Given the description of an element on the screen output the (x, y) to click on. 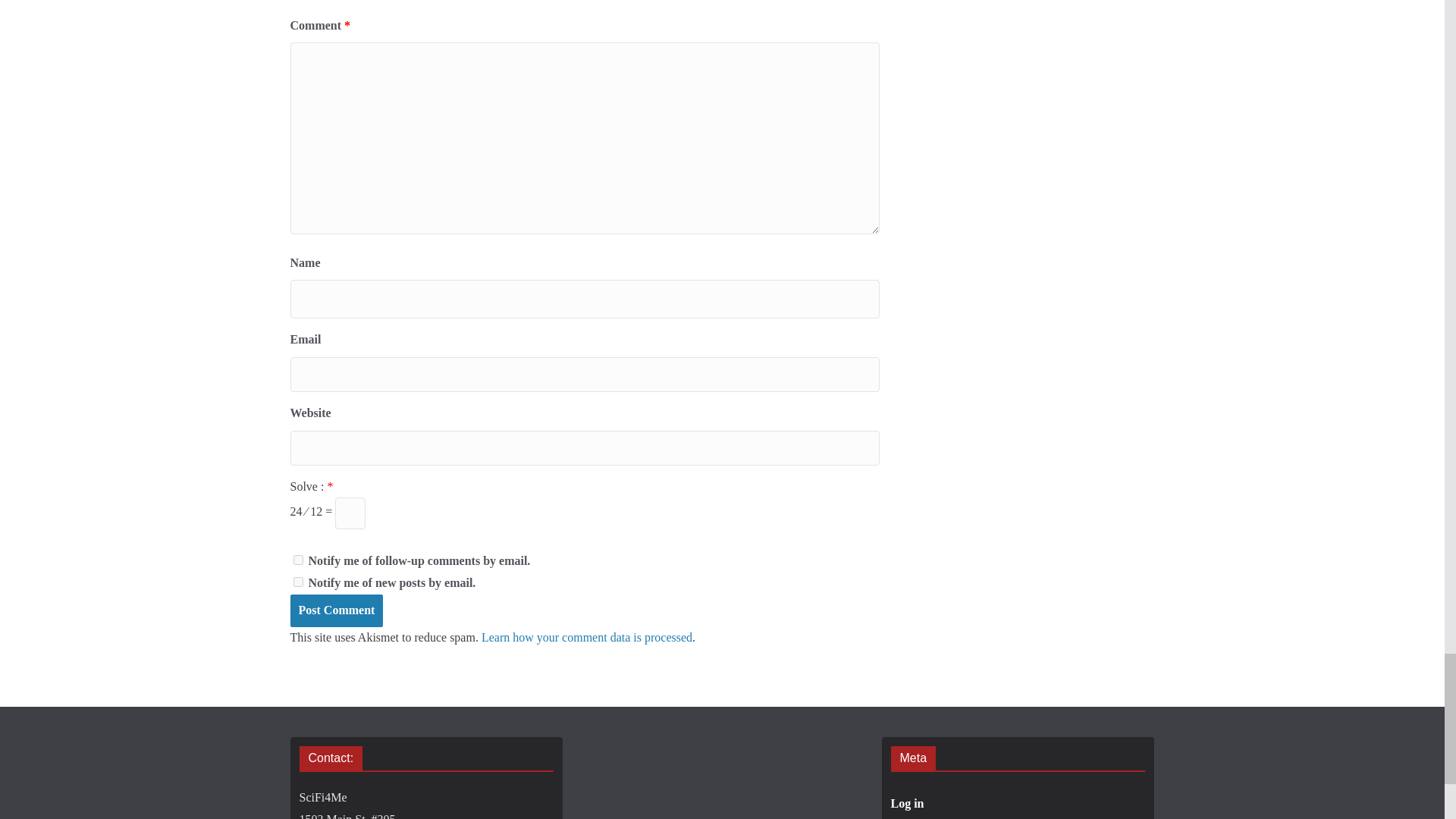
subscribe (297, 560)
subscribe (297, 582)
Post Comment (335, 610)
